Given the description of an element on the screen output the (x, y) to click on. 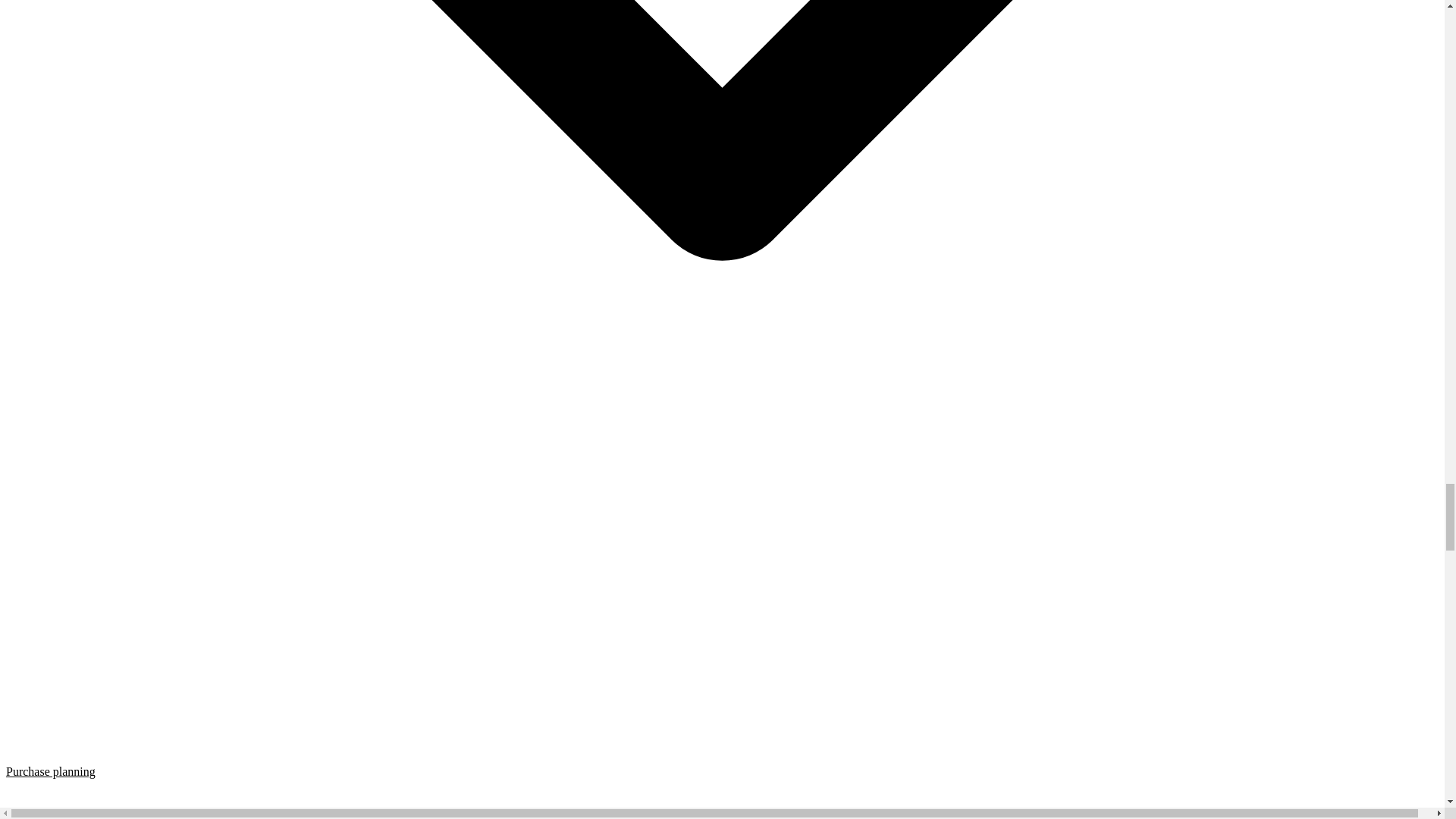
Purchase planning (721, 791)
